Given the description of an element on the screen output the (x, y) to click on. 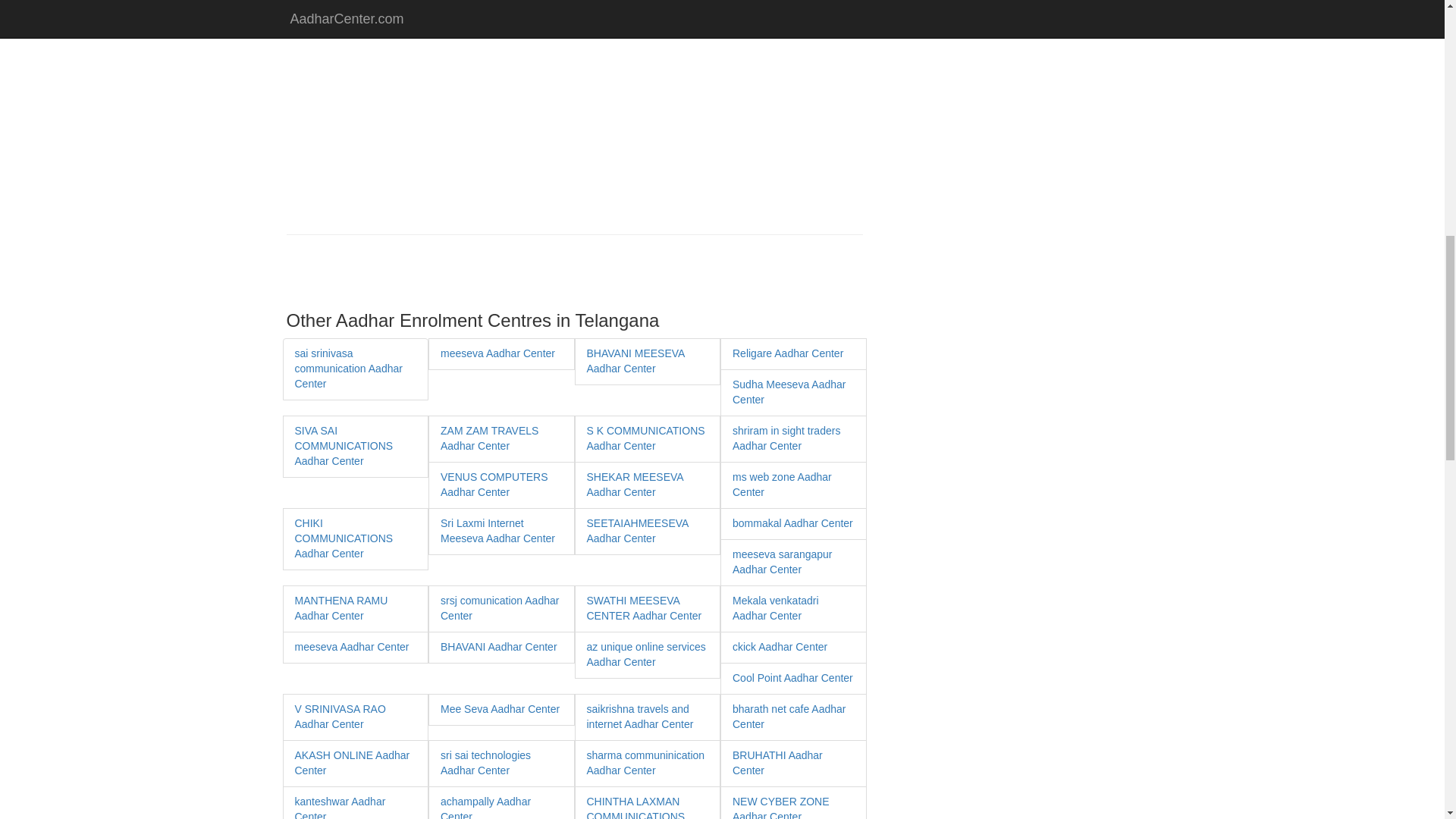
Sri Laxmi Internet Meeseva Aadhar Center (497, 530)
CHIKI COMMUNICATIONS Aadhar Center (343, 537)
sharma communinication Aadhar Center (645, 762)
Religare Aadhar Center (787, 353)
V SRINIVASA RAO Aadhar Center (339, 716)
az unique online services Aadhar Center (646, 654)
SEETAIAHMEESEVA Aadhar Center (637, 530)
SHEKAR MEESEVA Aadhar Center (634, 483)
Cool Point Aadhar Center (792, 677)
ZAM ZAM TRAVELS Aadhar Center (489, 438)
